Given the description of an element on the screen output the (x, y) to click on. 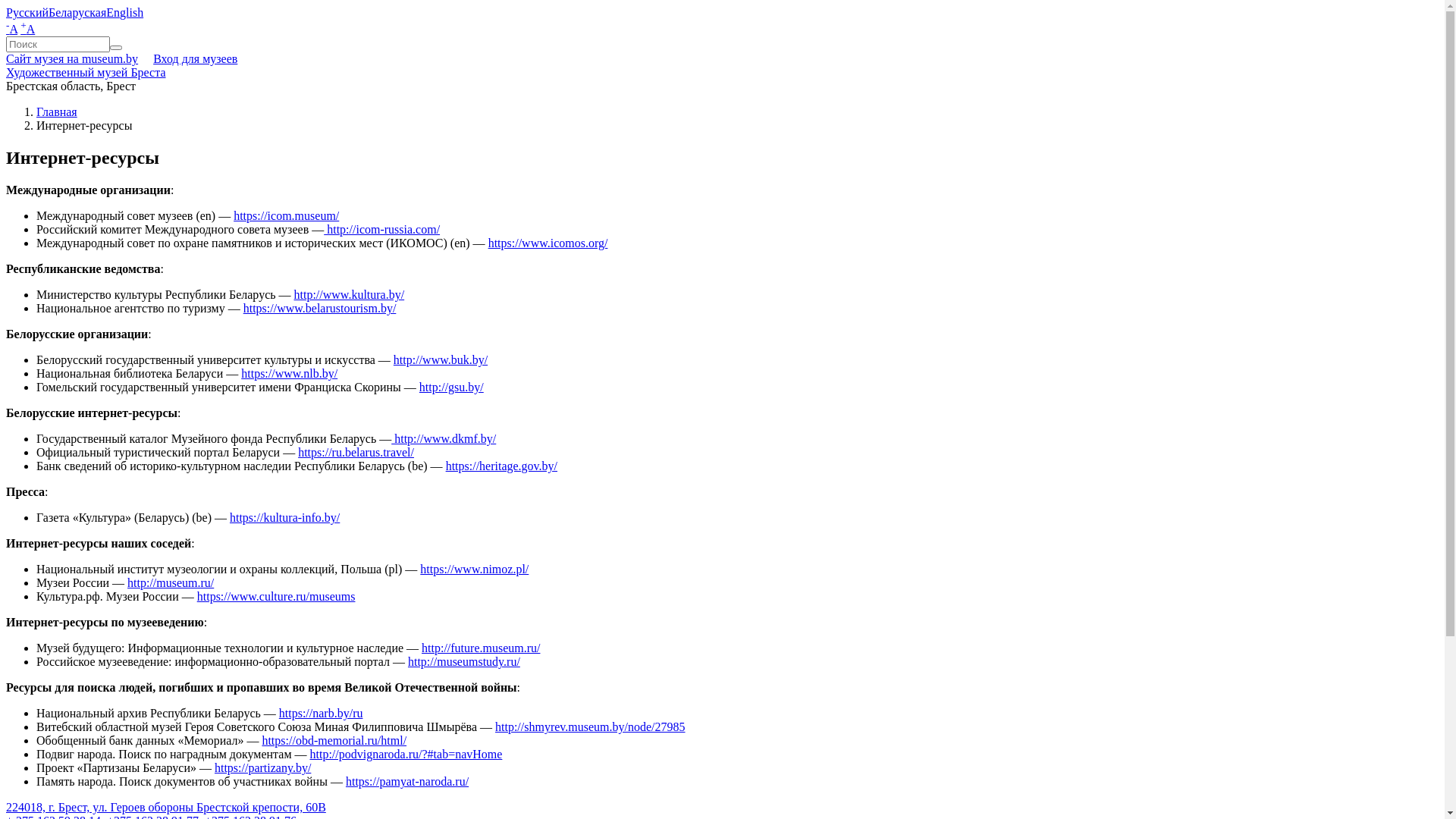
http://www.kultura.by/ Element type: text (349, 294)
http://www.dkmf.by/ Element type: text (443, 438)
http://museumstudy.ru/ Element type: text (463, 661)
https://ru.belarus.travel/ Element type: text (356, 451)
https://partizany.by/ Element type: text (262, 767)
+A Element type: text (27, 28)
http://gsu.by/ Element type: text (451, 386)
https://icom.museum/ Element type: text (285, 215)
http://www.buk.by/ Element type: text (440, 359)
http://future.museum.ru/ Element type: text (480, 647)
https://pamyat-naroda.ru/ Element type: text (406, 781)
https://heritage.gov.by/ Element type: text (501, 465)
http://icom-russia.com/ Element type: text (381, 228)
http://podvignaroda.ru/?#tab=navHome Element type: text (405, 753)
http://museum.ru/ Element type: text (170, 582)
https://narb.by/ru Element type: text (321, 712)
https://www.belarustourism.by/ Element type: text (319, 307)
http://shmyrev.museum.by/node/27985 Element type: text (590, 726)
https://www.nimoz.pl/ Element type: text (474, 568)
English Element type: text (124, 12)
https://obd-memorial.ru/html/ Element type: text (333, 740)
https://kultura-info.by/ Element type: text (284, 517)
https://www.icomos.org/ Element type: text (548, 242)
https://www.culture.ru/museums Element type: text (276, 595)
-A Element type: text (11, 28)
https://www.nlb.by/ Element type: text (289, 373)
